Given the description of an element on the screen output the (x, y) to click on. 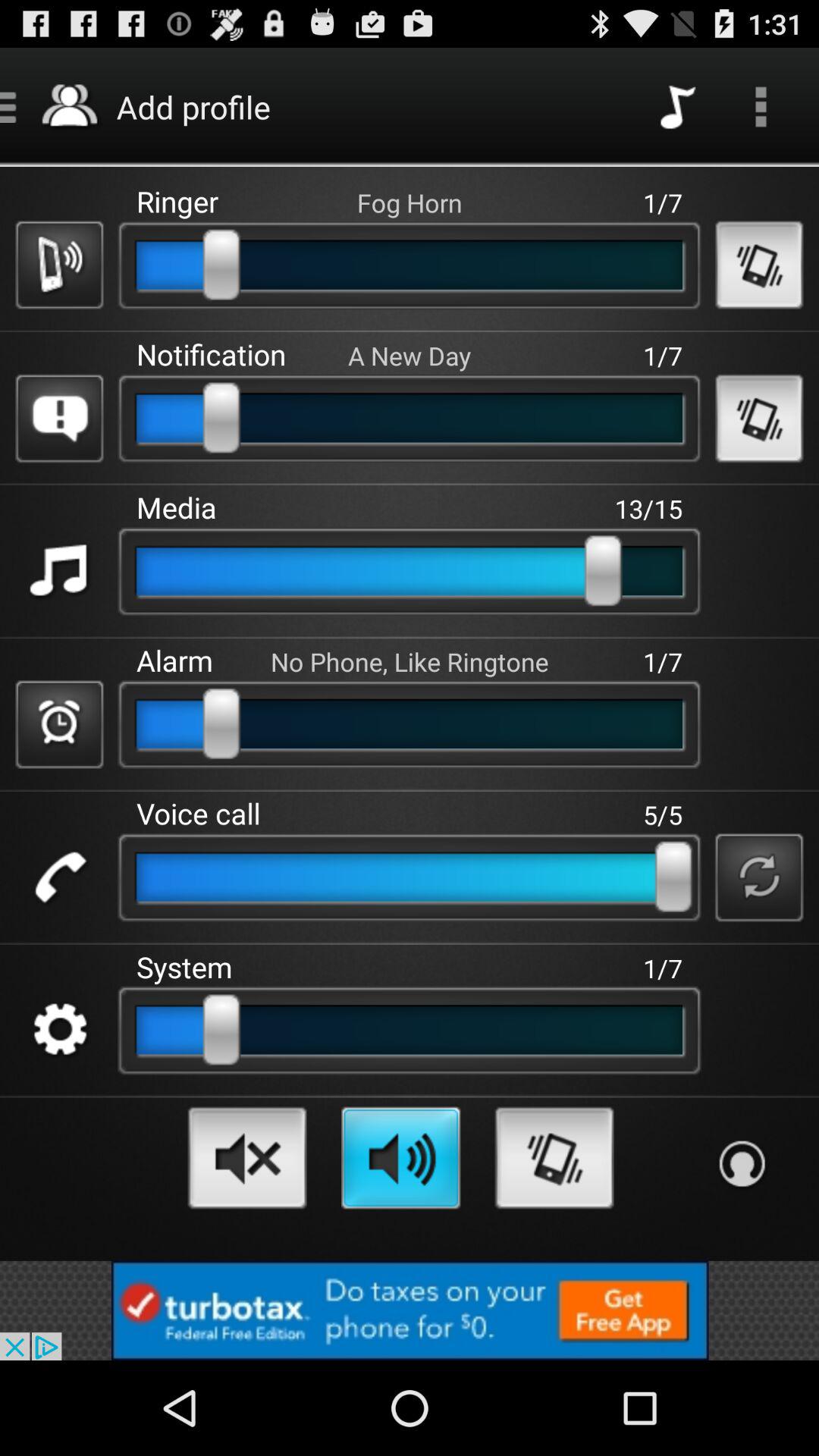
media (59, 571)
